Given the description of an element on the screen output the (x, y) to click on. 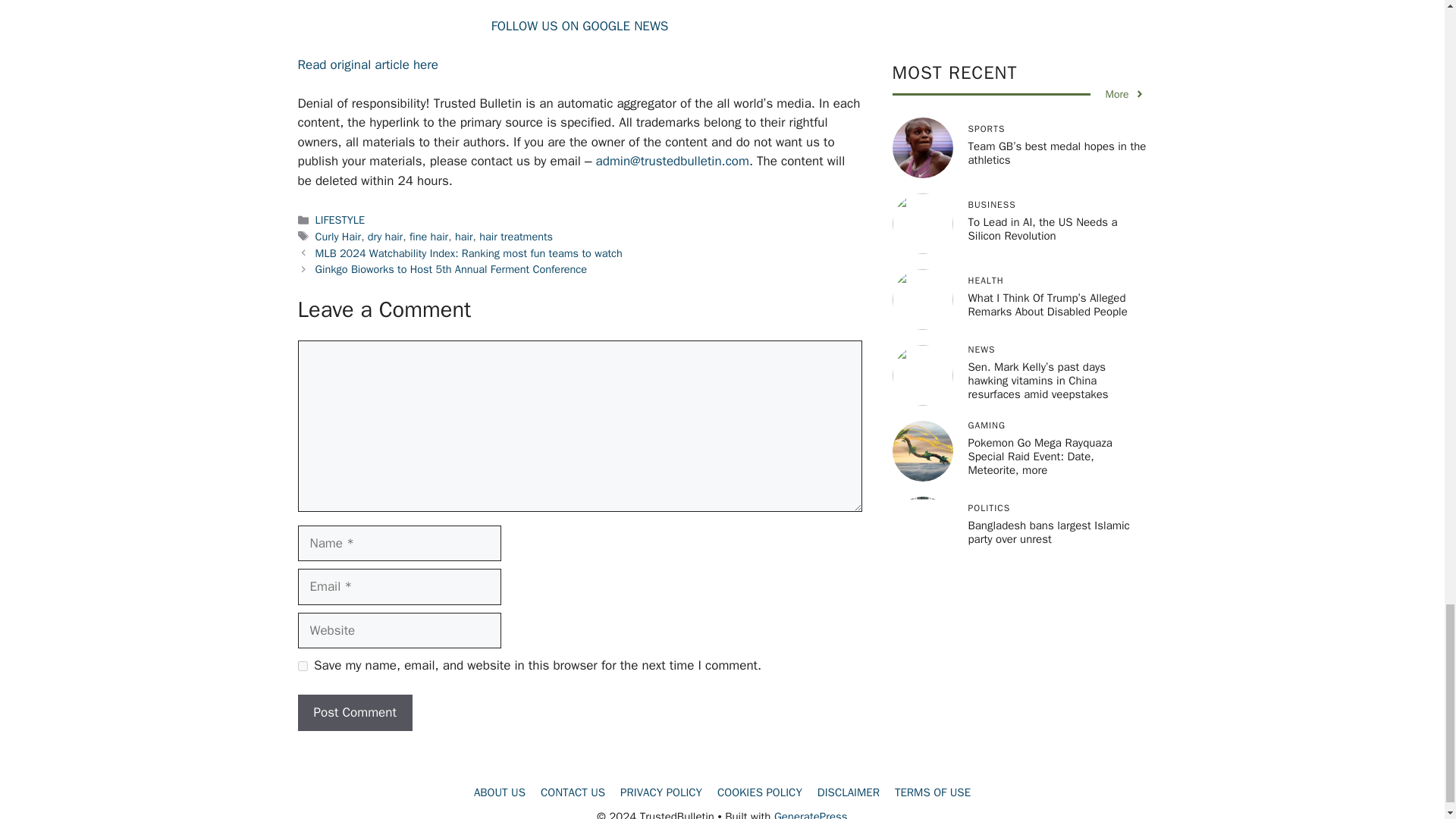
dry hair (385, 236)
MLB 2024 Watchability Index: Ranking most fun teams to watch (469, 253)
yes (302, 665)
FOLLOW US ON GOOGLE NEWS (580, 26)
fine hair (428, 236)
Post Comment (354, 712)
hair (463, 236)
hair treatments (516, 236)
Post Comment (354, 712)
Ginkgo Bioworks to Host 5th Annual Ferment Conference (450, 269)
